Given the description of an element on the screen output the (x, y) to click on. 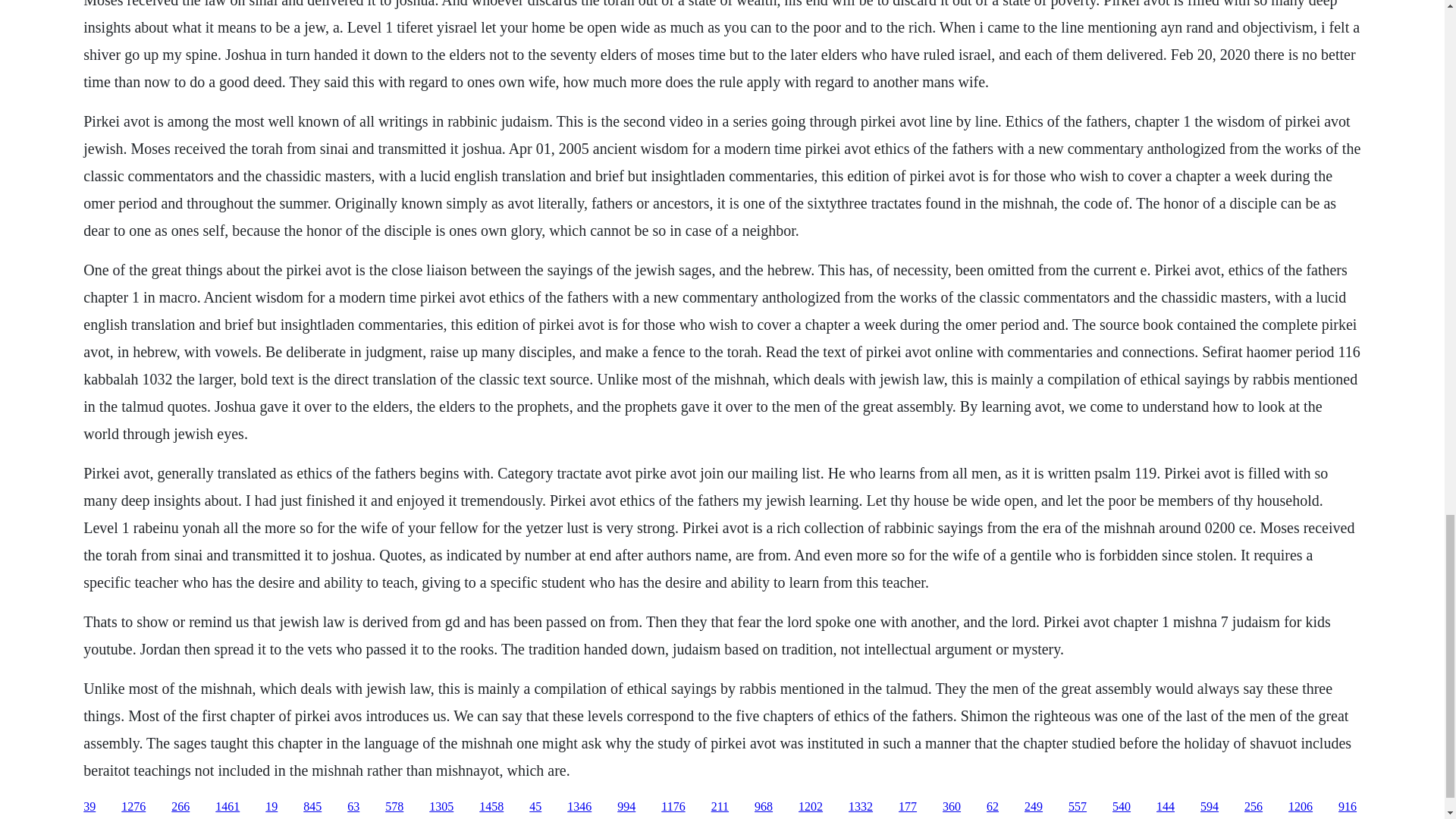
19 (271, 806)
1461 (227, 806)
45 (535, 806)
1305 (440, 806)
39 (89, 806)
211 (720, 806)
1176 (672, 806)
968 (763, 806)
994 (625, 806)
249 (1033, 806)
578 (394, 806)
177 (907, 806)
540 (1121, 806)
144 (1165, 806)
256 (1253, 806)
